Given the description of an element on the screen output the (x, y) to click on. 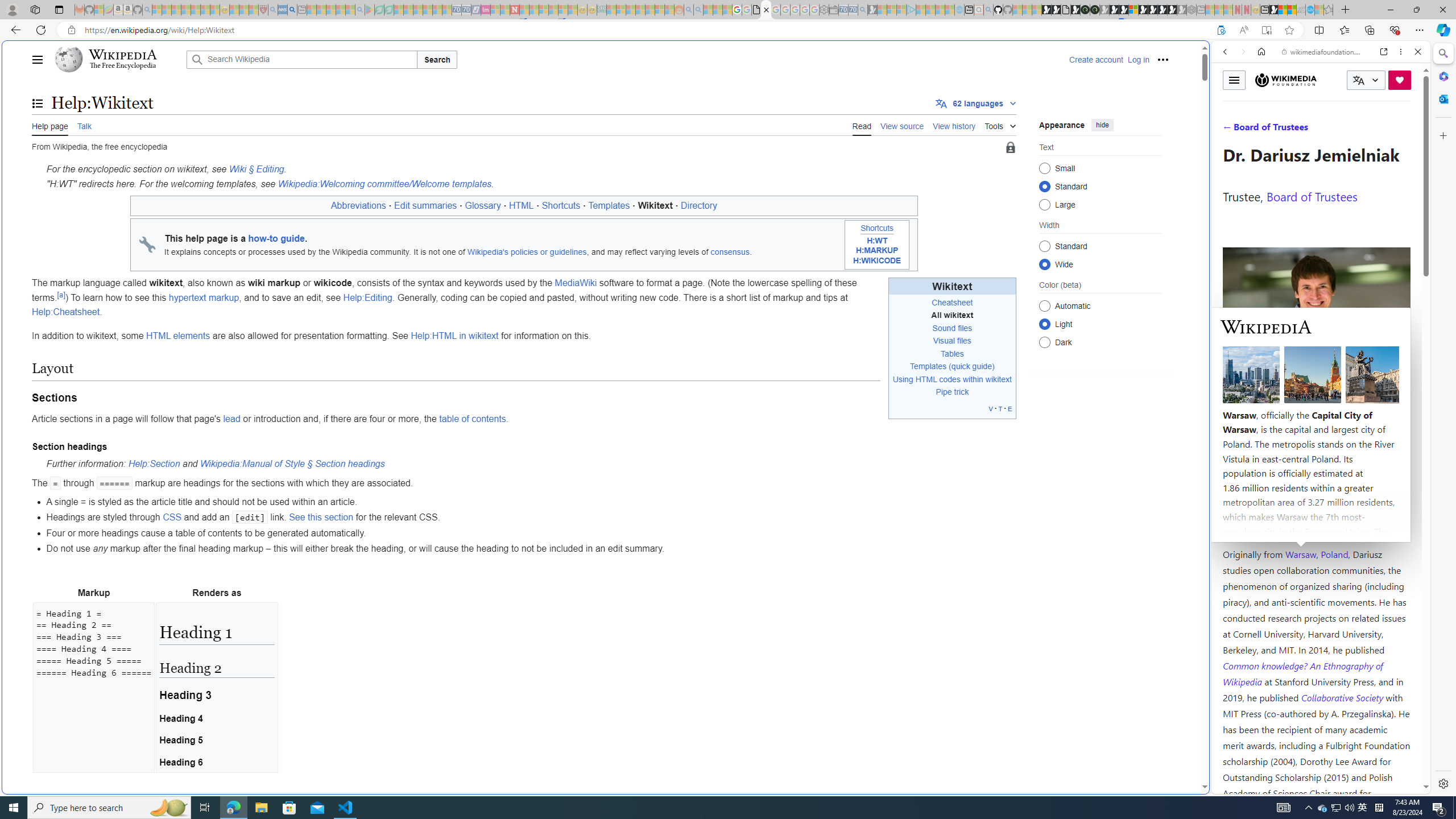
Harvard University (1259, 526)
Microsoft-Report a Concern to Bing - Sleeping (98, 9)
Enter Immersive Reader (F9) (1266, 29)
Common knowledge? An Ethnography of Wikipedia (1302, 672)
DITOGAMES AG Imprint - Sleeping (601, 9)
Dark (1044, 341)
Bing Real Estate - Home sales and rental listings - Sleeping (862, 9)
